Given the description of an element on the screen output the (x, y) to click on. 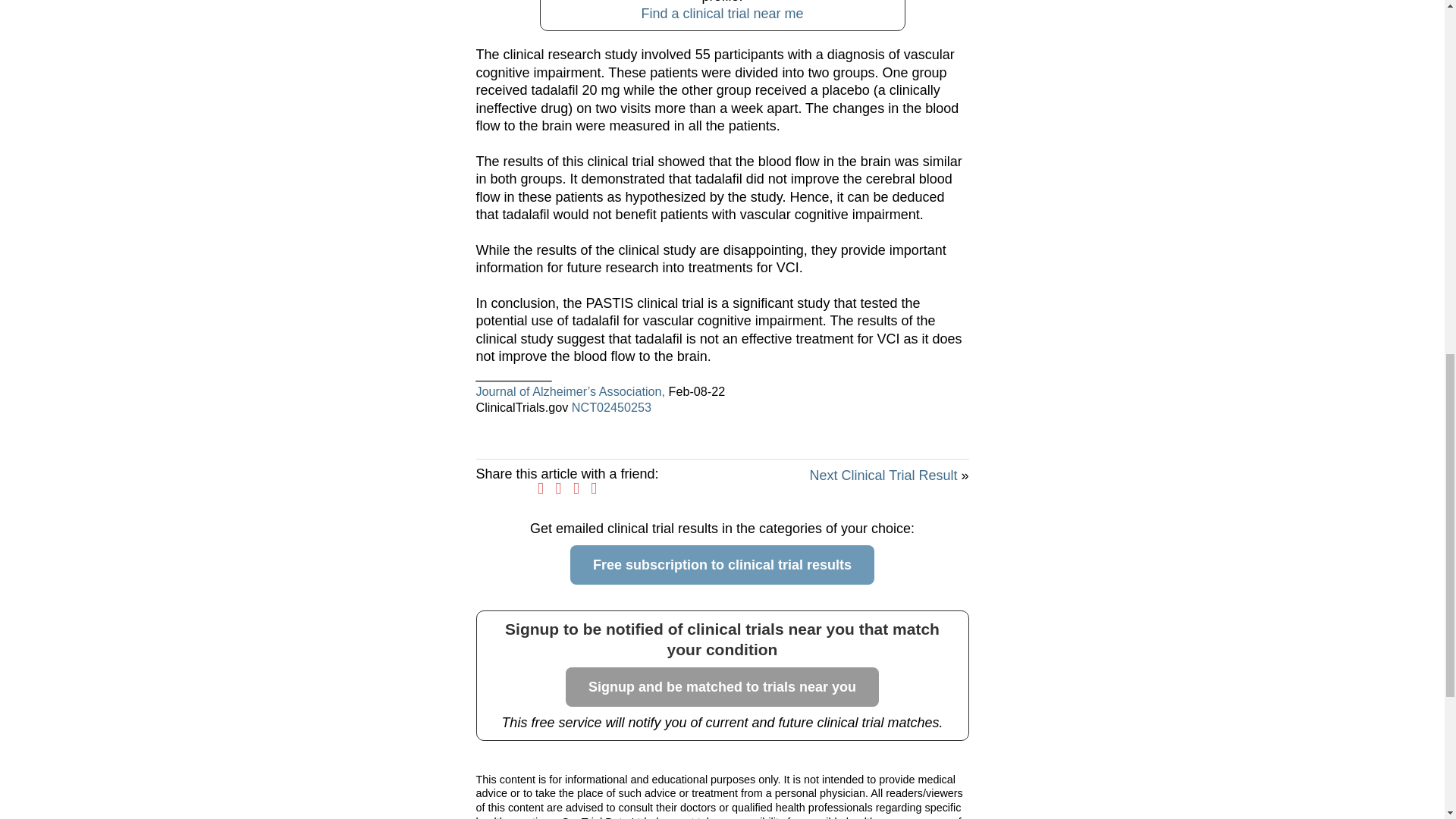
Find a clinical trial near me (721, 13)
NCT02450253 (611, 407)
Signup and be matched to trials near you (722, 686)
Free subscription to clinical trial results (722, 564)
Next Clinical Trial Result (882, 475)
